Given the description of an element on the screen output the (x, y) to click on. 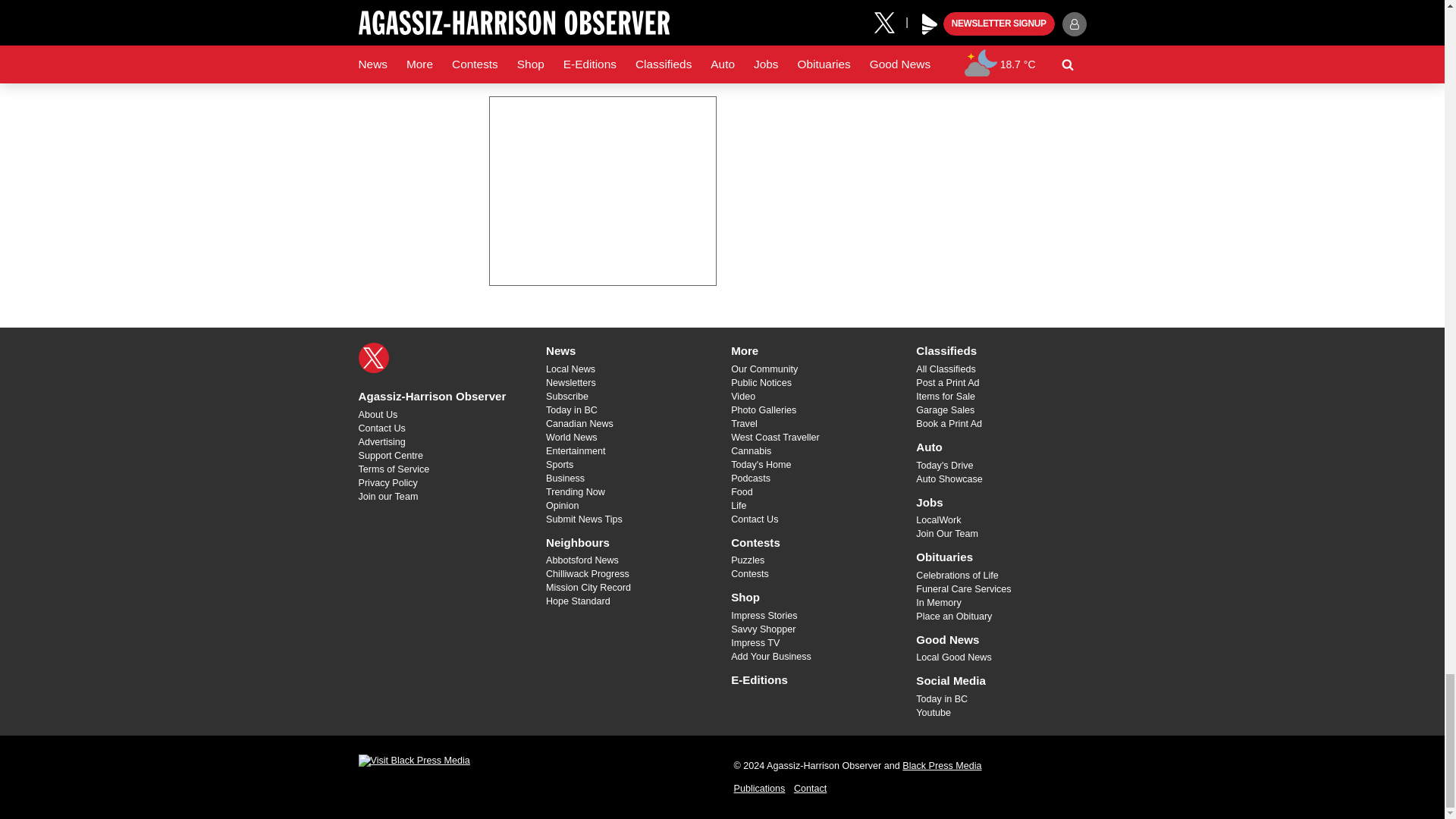
X (373, 358)
3rd party ad content (602, 190)
Show Comments (602, 52)
